Given the description of an element on the screen output the (x, y) to click on. 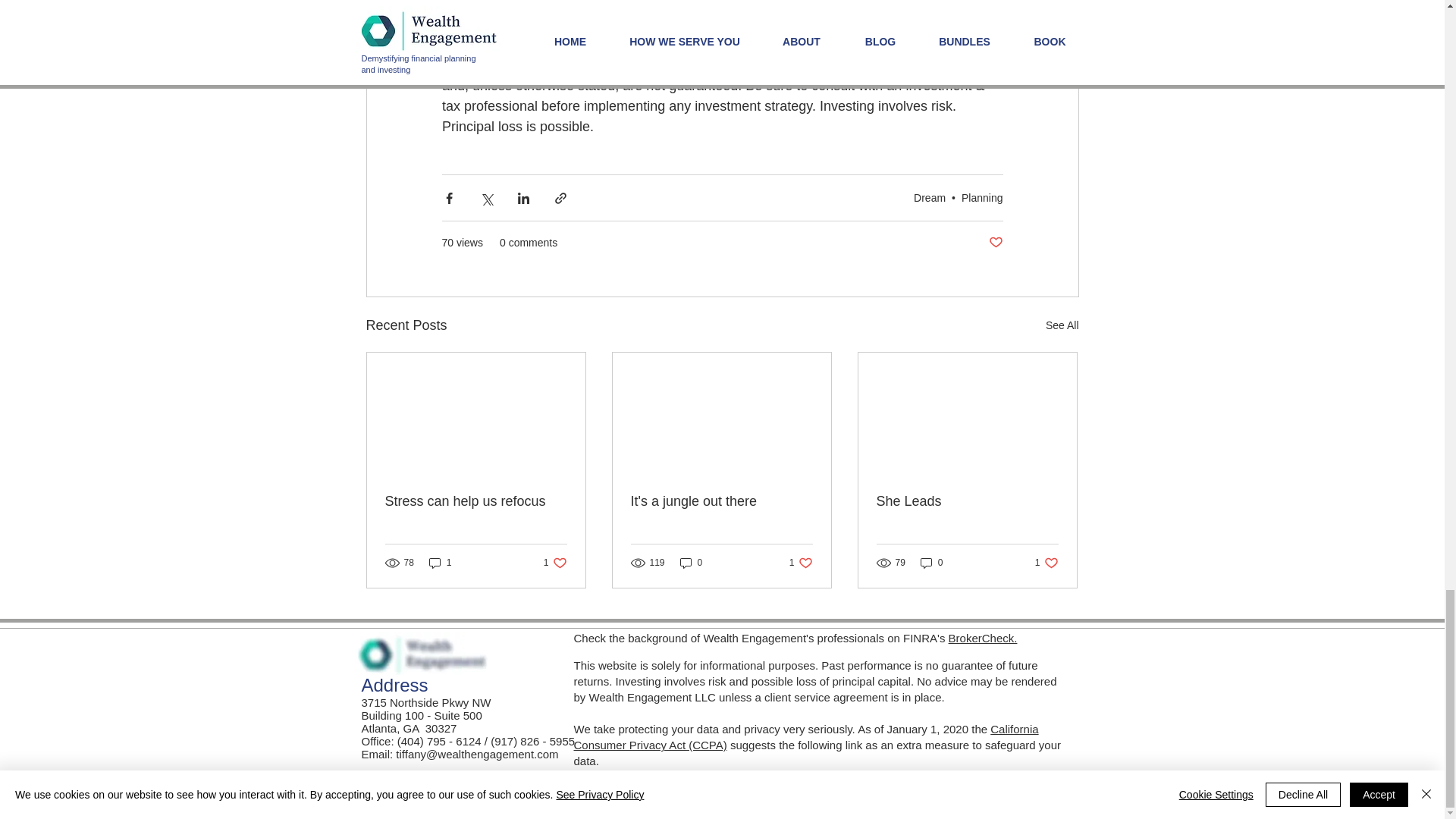
She Leads (800, 563)
0 (967, 501)
0 (555, 563)
Stress can help us refocus (691, 563)
Post not marked as liked (931, 563)
Planning (476, 501)
It's a jungle out there (995, 242)
See All (981, 197)
1 (721, 501)
Dream (1061, 325)
